Given the description of an element on the screen output the (x, y) to click on. 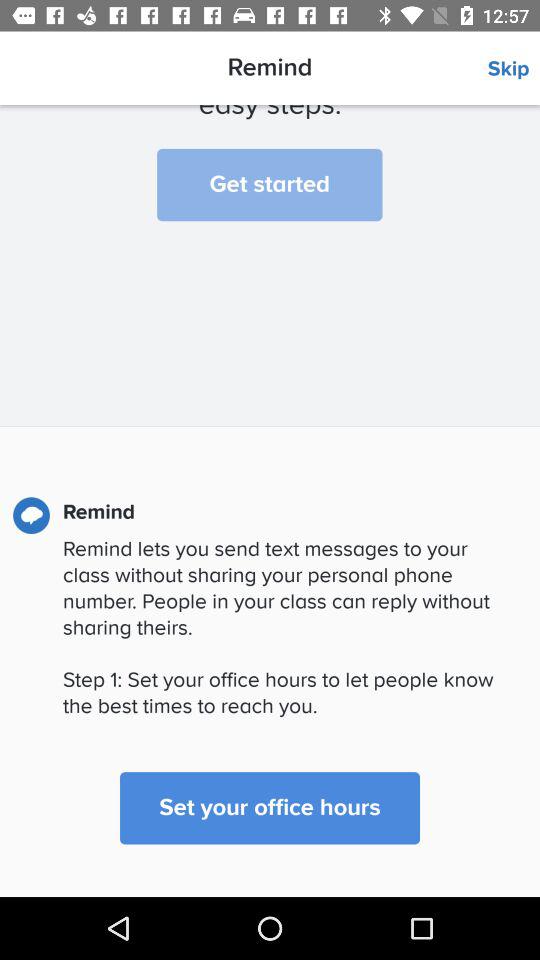
tap the item below we ll help item (269, 184)
